Given the description of an element on the screen output the (x, y) to click on. 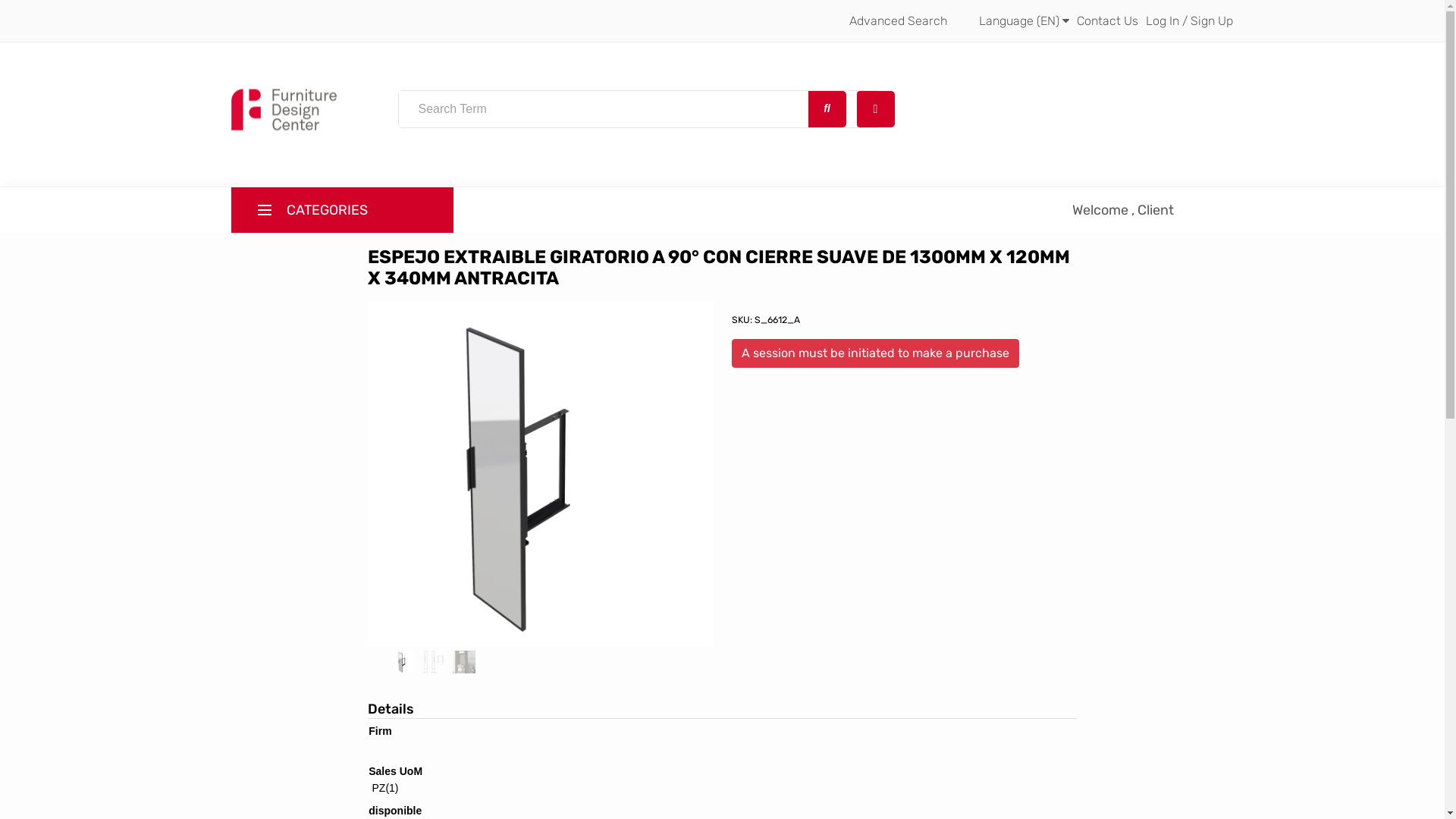
118 Element type: text (356, 259)
109 Element type: text (356, 608)
104 Element type: text (356, 434)
102 Element type: text (356, 364)
105 Element type: text (356, 468)
117 Element type: text (356, 643)
103 Element type: text (356, 399)
Contact Us Element type: text (1107, 20)
120 Element type: text (356, 329)
107 Element type: text (356, 538)
Log In / Sign Up Element type: text (1188, 20)
111 Element type: text (356, 678)
A session must be initiated to make a purchase Element type: text (874, 352)
Advanced Search Element type: text (898, 20)
119 Element type: text (356, 503)
Language (EN)  Element type: text (1023, 20)
101 Element type: text (356, 294)
108 Element type: text (356, 573)
Submit Element type: text (827, 109)
Welcome , Client Element type: text (1122, 209)
